Given the description of an element on the screen output the (x, y) to click on. 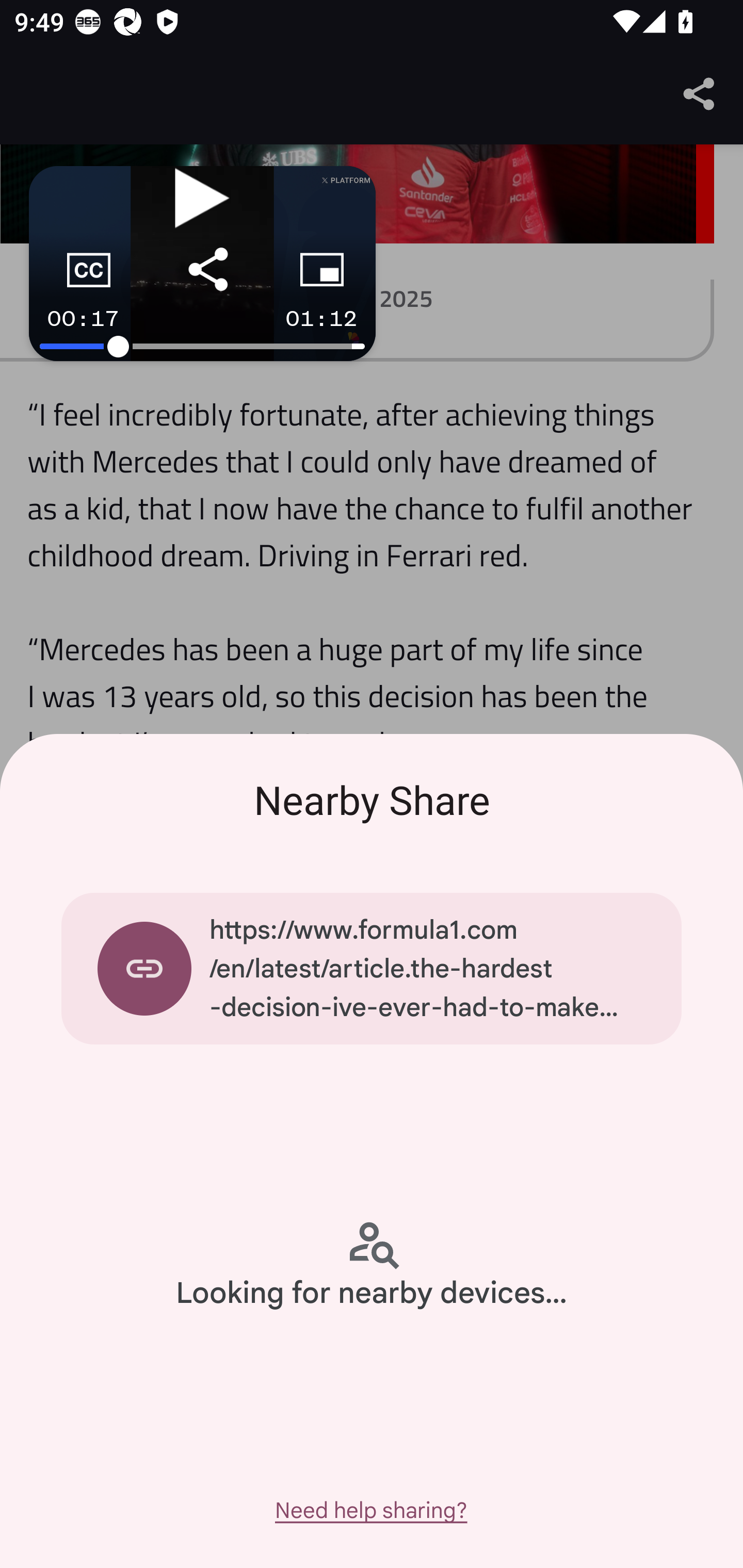
Need help sharing? (370, 1510)
